Given the description of an element on the screen output the (x, y) to click on. 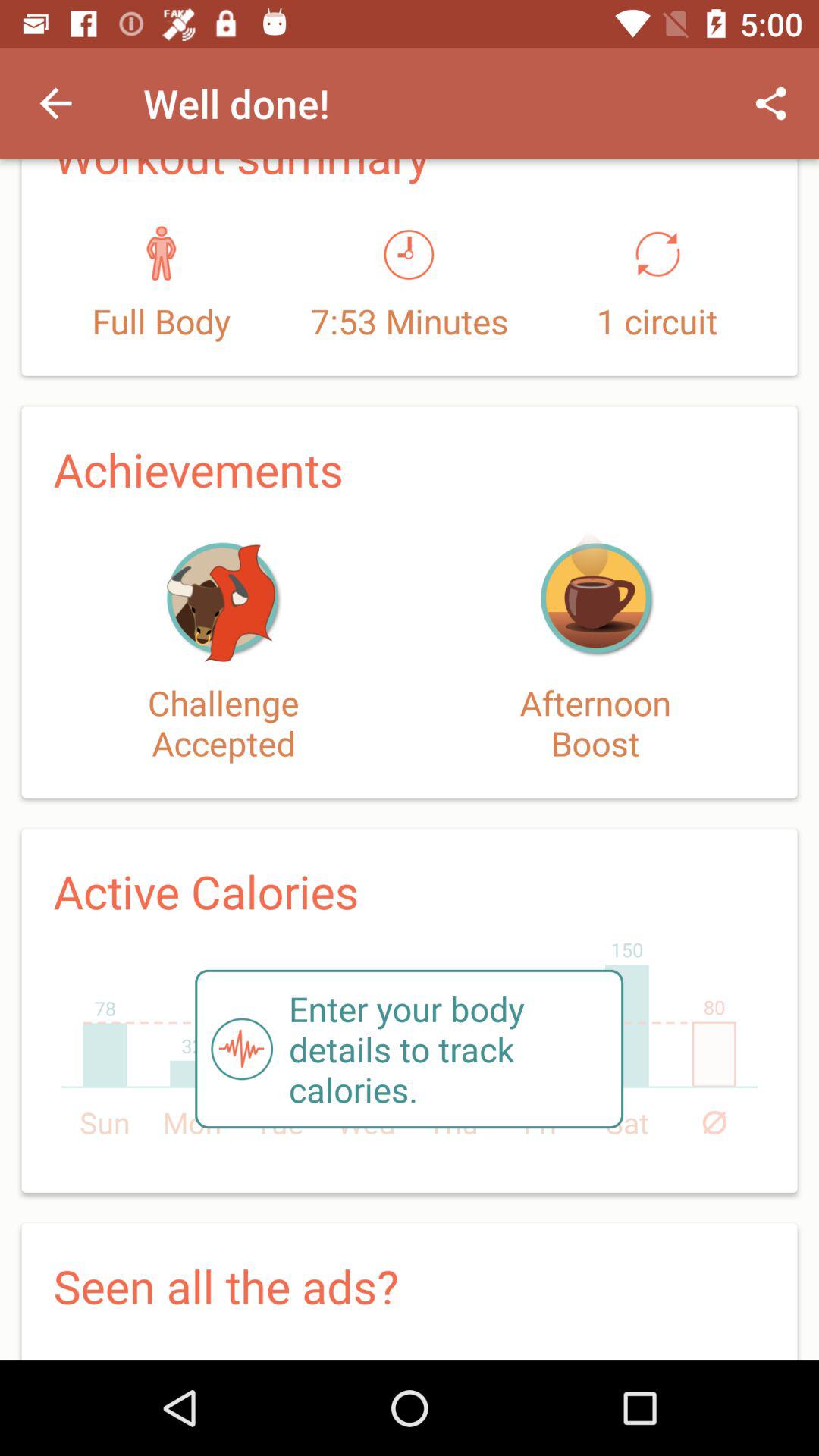
turn off item above the workout summary item (55, 103)
